Given the description of an element on the screen output the (x, y) to click on. 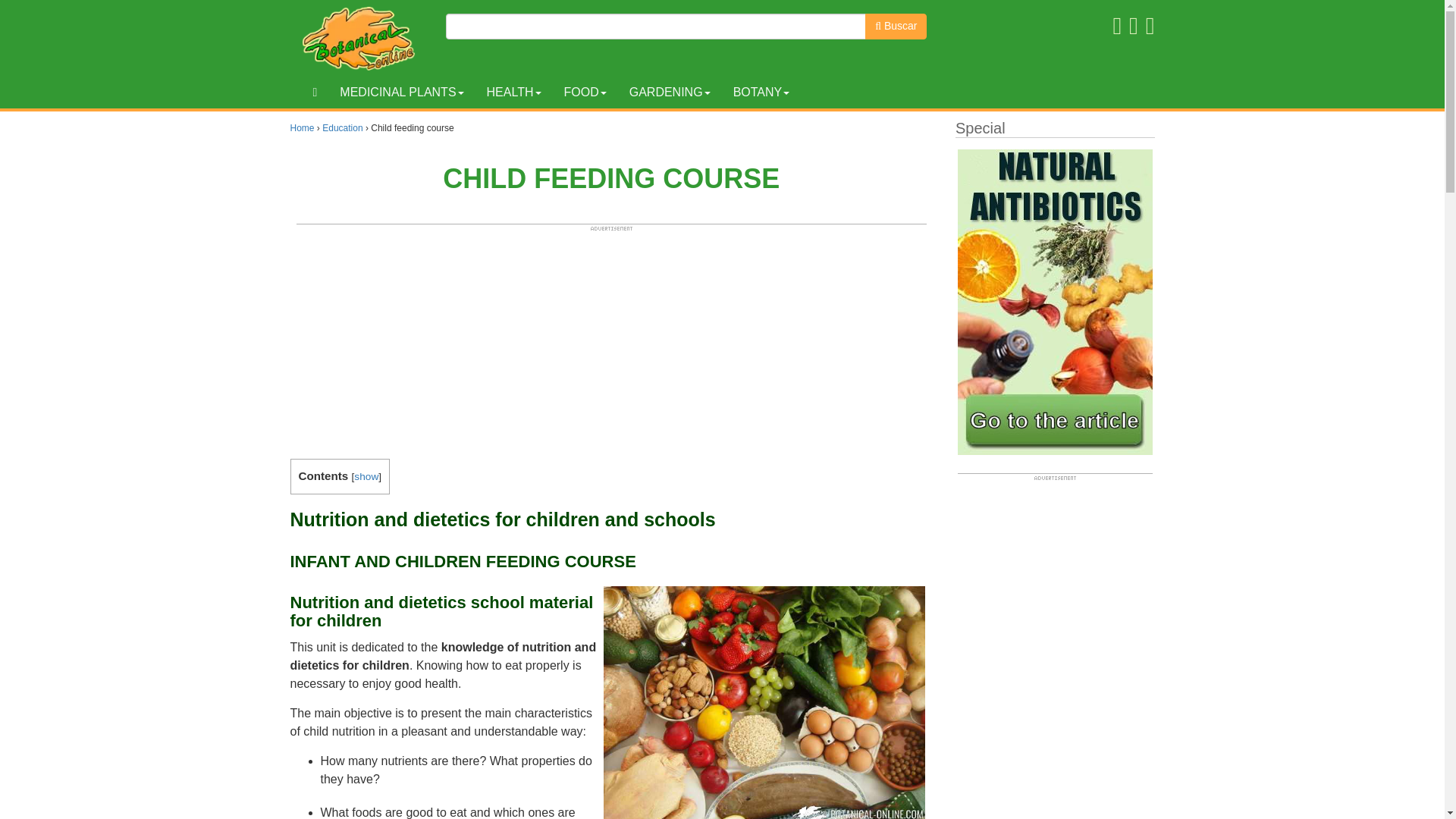
FOOD (584, 92)
GARDENING (669, 92)
Buscar (895, 26)
HEALTH (514, 92)
Botanical-Online (362, 37)
Advertisement (611, 337)
MEDICINAL PLANTS (401, 92)
